Given the description of an element on the screen output the (x, y) to click on. 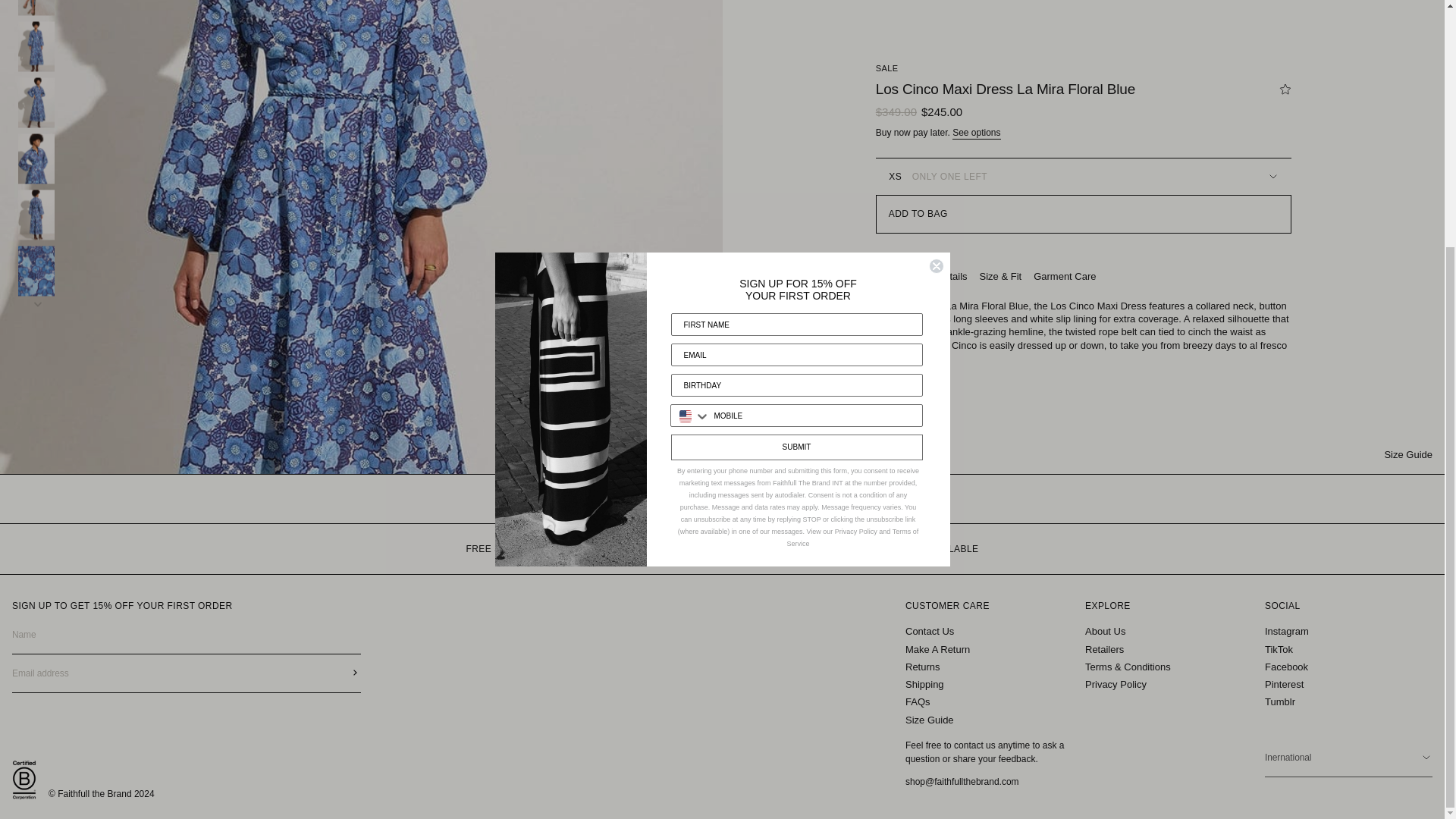
United States (685, 70)
